Given the description of an element on the screen output the (x, y) to click on. 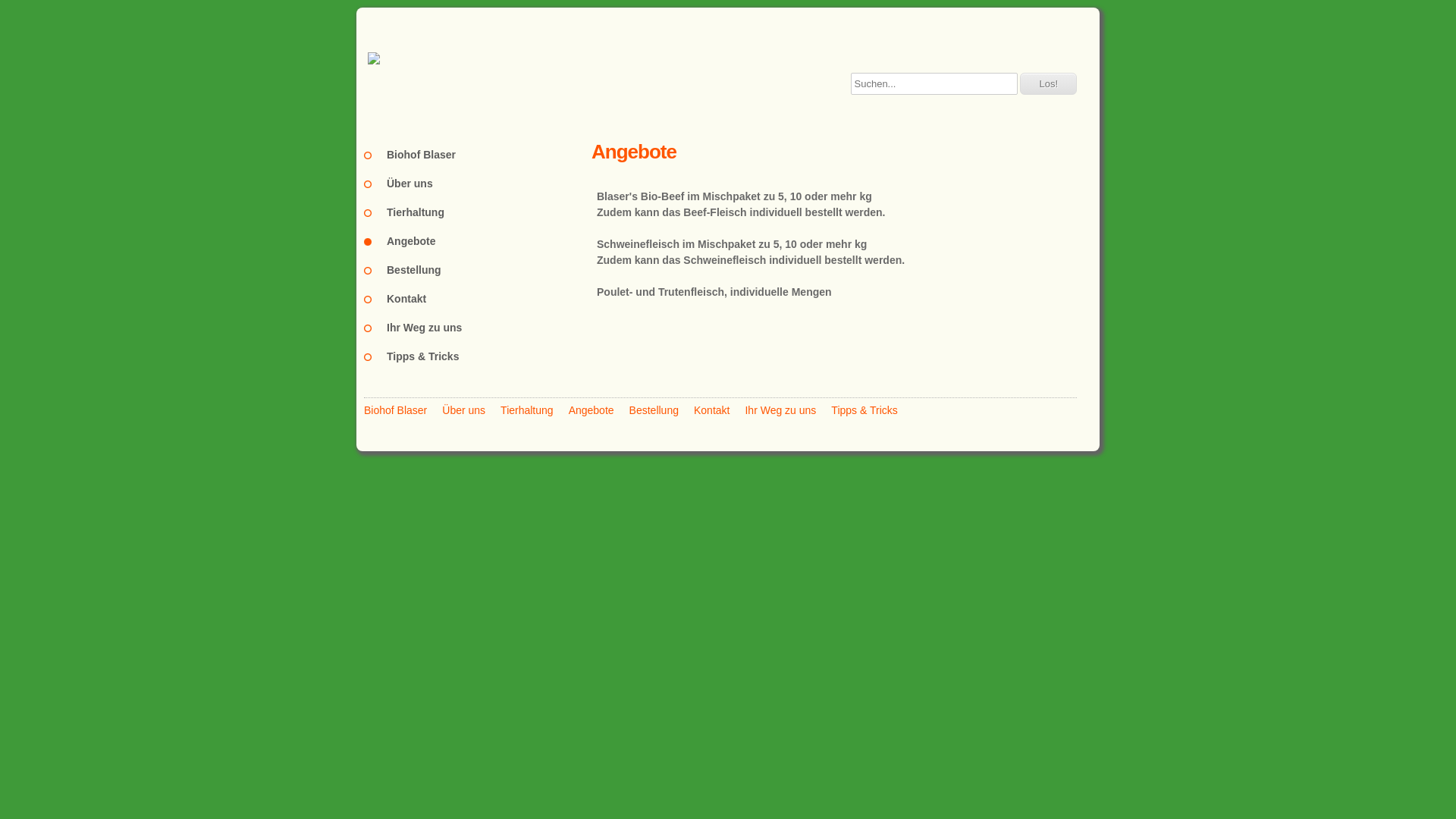
Los! Element type: text (1047, 83)
Bestellung Element type: text (477, 269)
Tipps & Tricks Element type: text (864, 410)
Tierhaltung Element type: text (477, 212)
Bestellung Element type: text (653, 410)
Biohof Blaser Element type: text (477, 154)
Kontakt Element type: text (711, 410)
Kontakt Element type: text (477, 298)
Angebote Element type: text (477, 240)
Biohof Blaser Element type: text (395, 410)
Angebote Element type: text (591, 410)
Tipps & Tricks Element type: text (477, 356)
Tierhaltung Element type: text (526, 410)
Ihr Weg zu uns Element type: text (779, 410)
Ihr Weg zu uns Element type: text (477, 327)
